Given the description of an element on the screen output the (x, y) to click on. 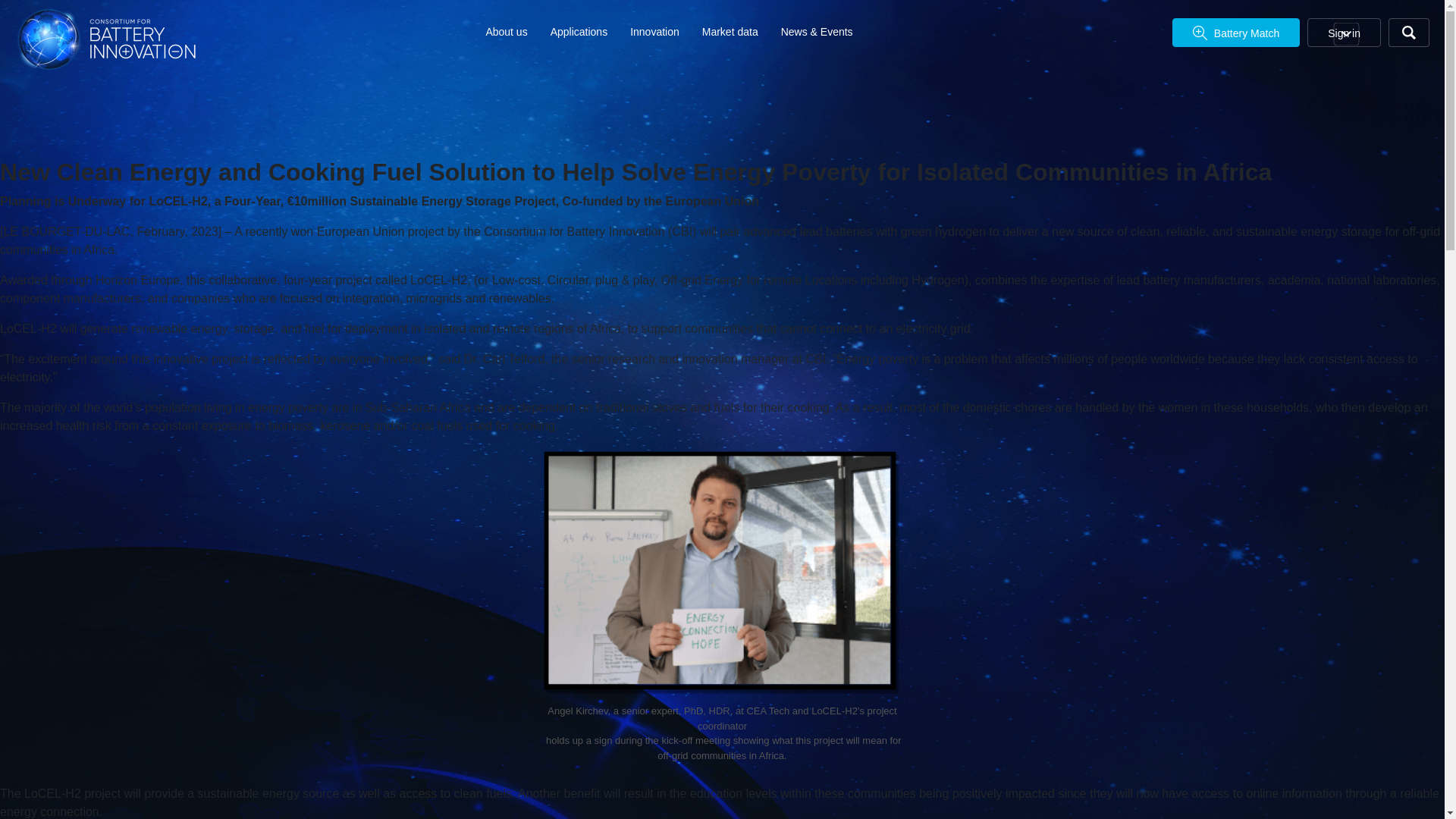
Battery Match (1236, 32)
Sign in (1343, 32)
Applications (579, 31)
Market data (729, 31)
About us (505, 31)
Innovation (654, 31)
